Given the description of an element on the screen output the (x, y) to click on. 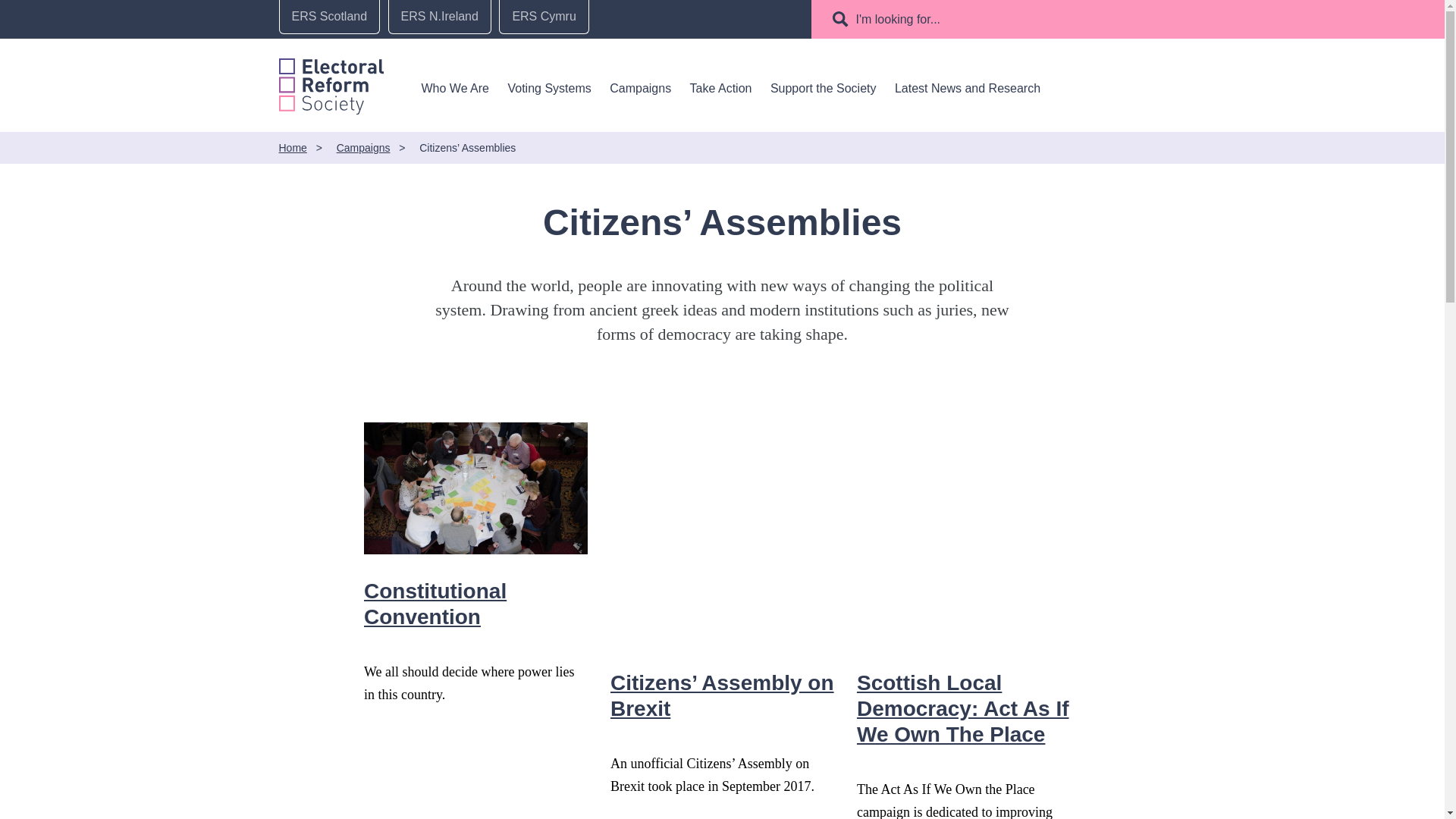
Latest News and Research (968, 88)
Take Action (721, 88)
Who We Are (455, 88)
ERS Scotland (329, 17)
Campaigns (640, 88)
Support the Society (823, 88)
ERS Cymru (543, 17)
Voting Systems (548, 88)
I'm looking for... (899, 19)
